Given the description of an element on the screen output the (x, y) to click on. 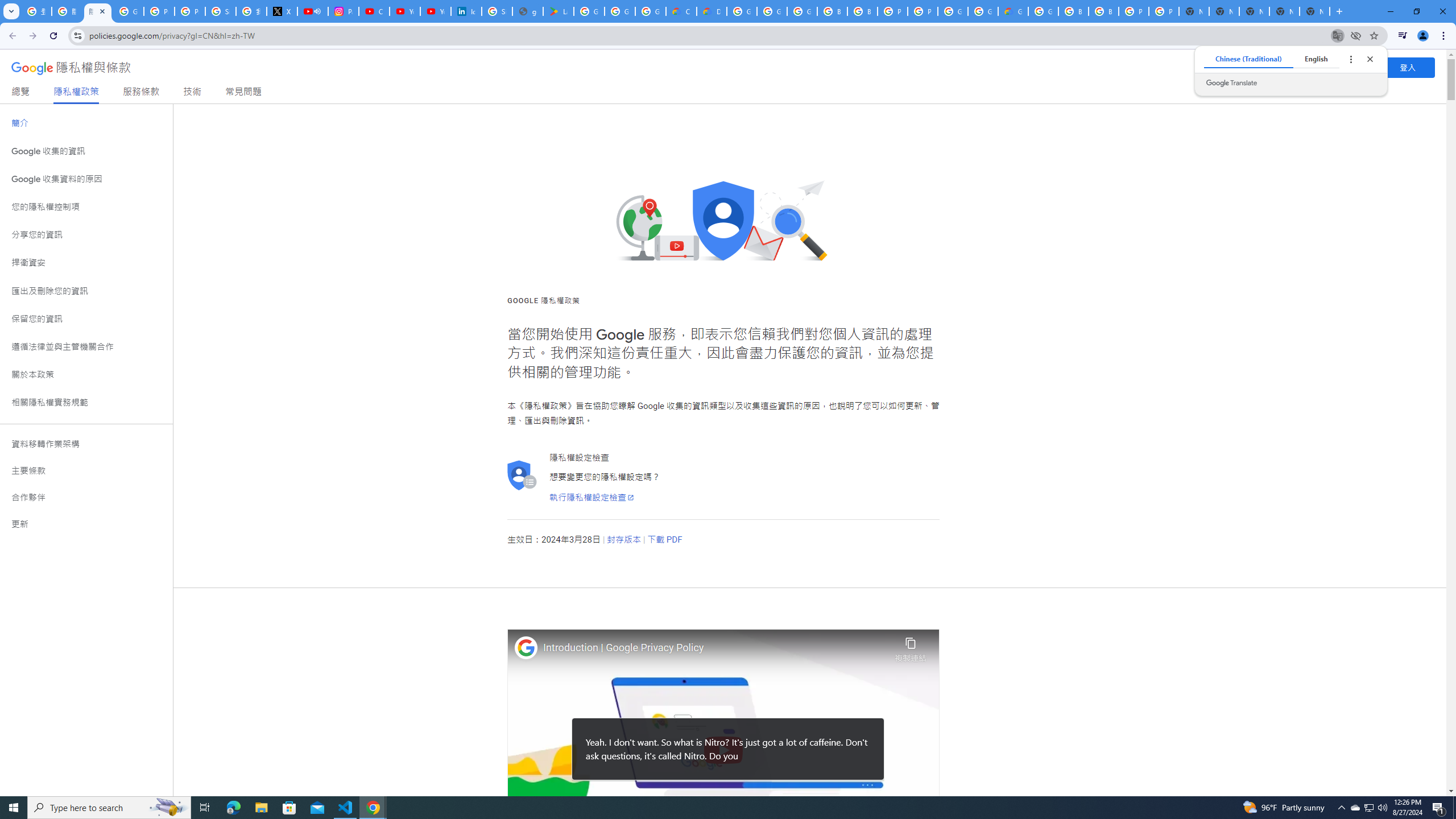
Chinese (Traditional) (1248, 58)
Browse Chrome as a guest - Computer - Google Chrome Help (1072, 11)
